Given the description of an element on the screen output the (x, y) to click on. 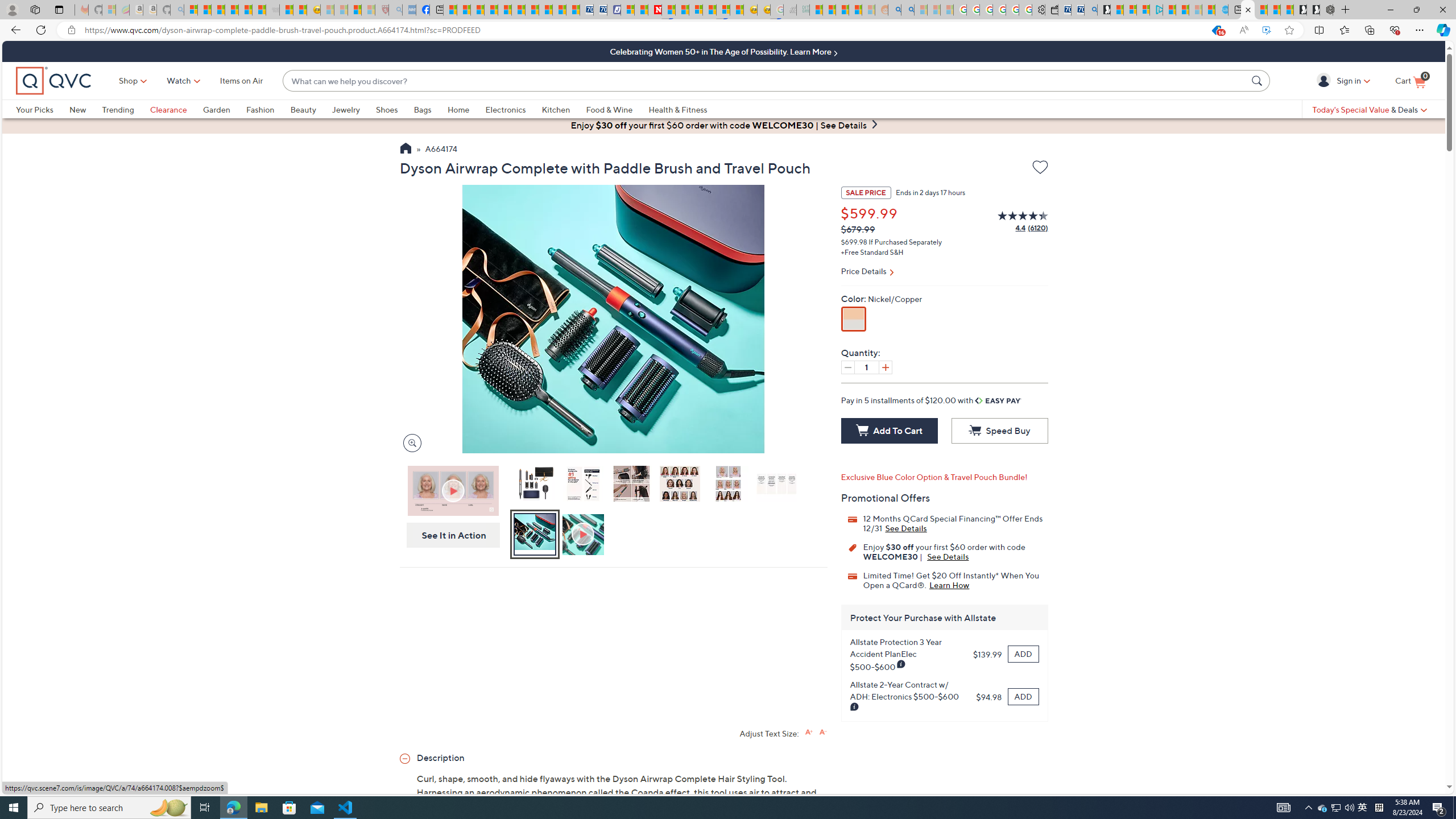
Add To Cart (888, 430)
Search Submit (1258, 80)
Electronics (504, 109)
Decrease font size (822, 731)
DITOGAMES AG Imprint - Sleeping (802, 9)
MSNBC - MSN (816, 9)
What can we help you discover? (764, 80)
Home (466, 109)
Fashion (268, 109)
